Given the description of an element on the screen output the (x, y) to click on. 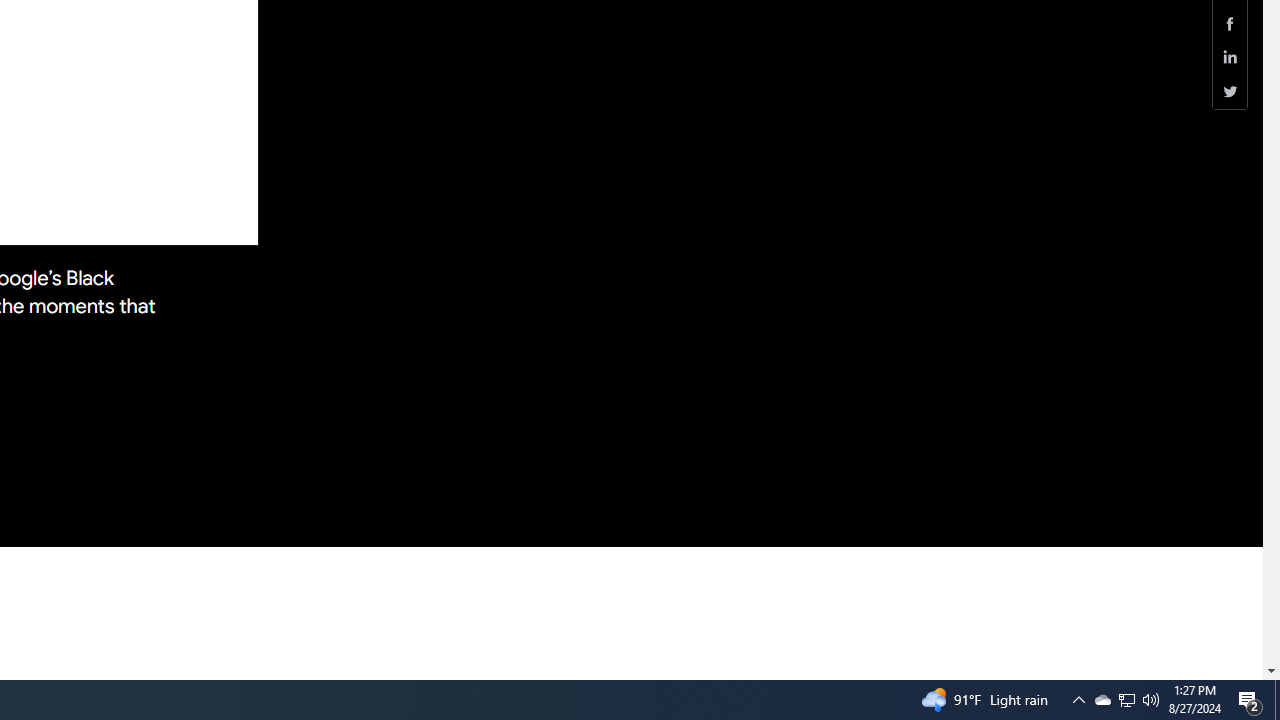
User Promoted Notification Area (1126, 699)
Share this page (Twitter) (1230, 91)
Notification Chevron (1078, 699)
Share this page (Facebook) (1126, 699)
Action Center, 2 new notifications (1230, 23)
Q2790: 100% (1250, 699)
Share this page (LinkedIn) (1151, 699)
Show desktop (1230, 57)
